Given the description of an element on the screen output the (x, y) to click on. 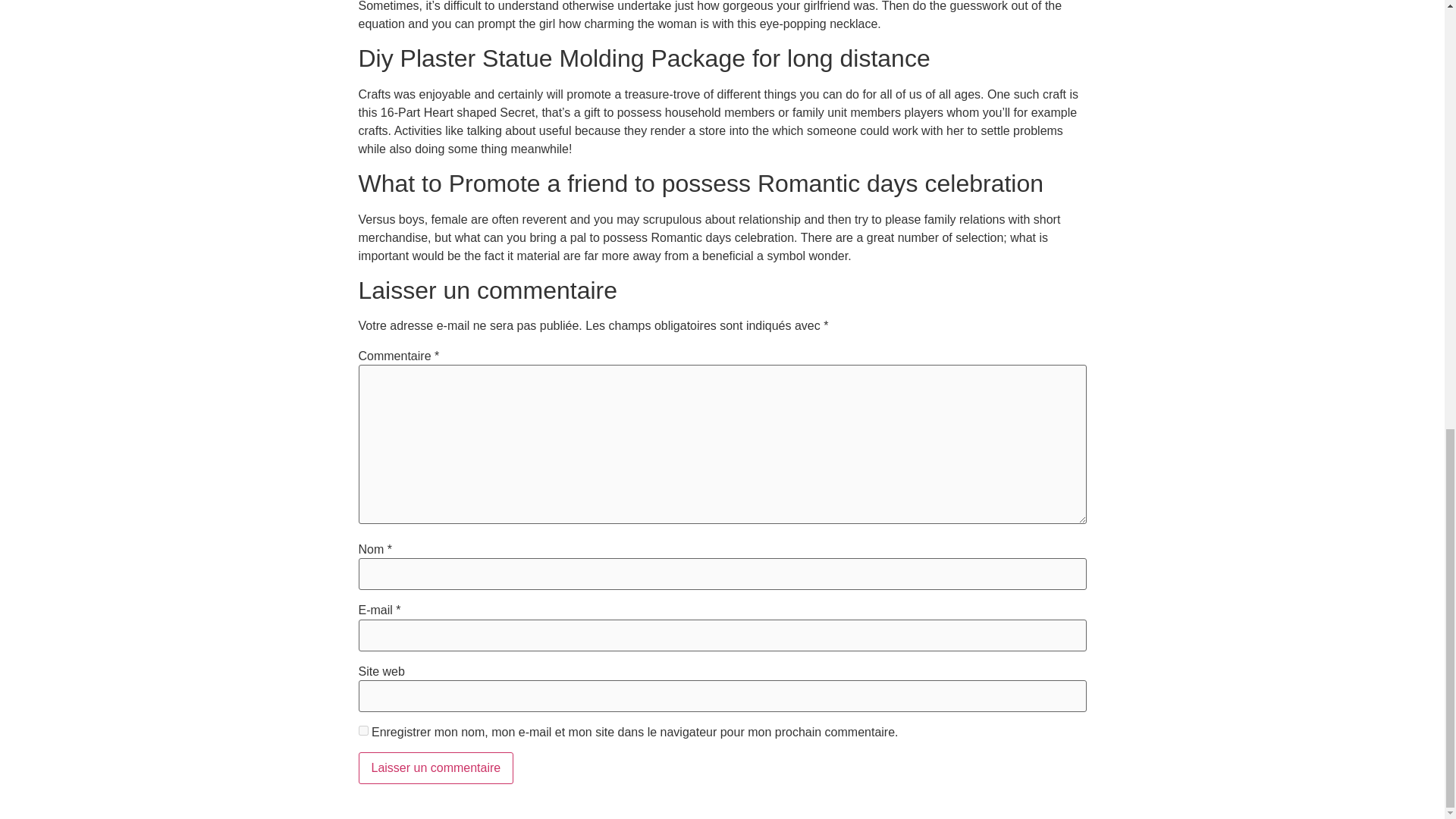
yes (363, 730)
Laisser un commentaire (435, 767)
Laisser un commentaire (435, 767)
